Given the description of an element on the screen output the (x, y) to click on. 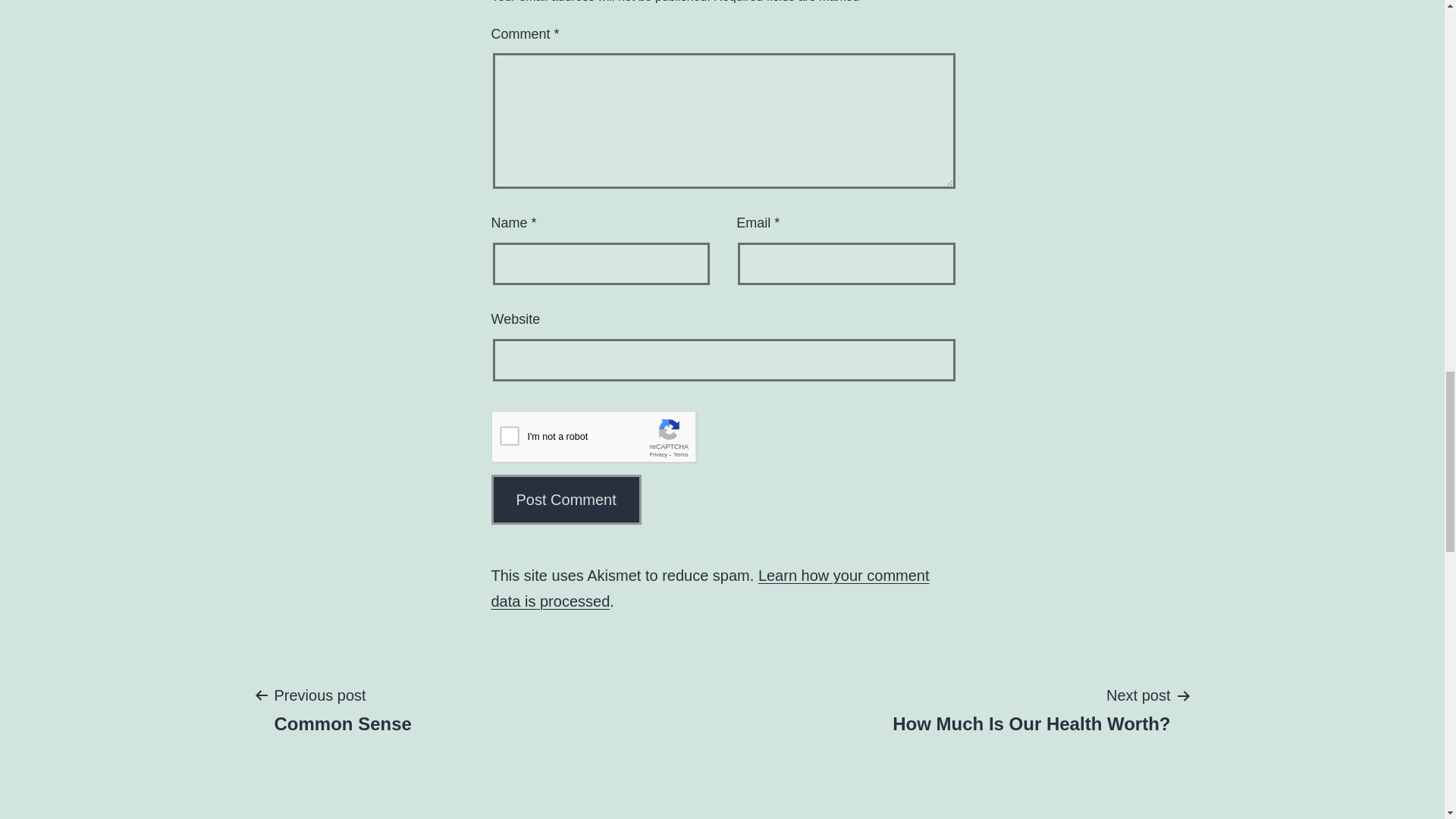
Learn how your comment data is processed (711, 588)
reCAPTCHA (341, 708)
Post Comment (607, 440)
Post Comment (1031, 708)
